Given the description of an element on the screen output the (x, y) to click on. 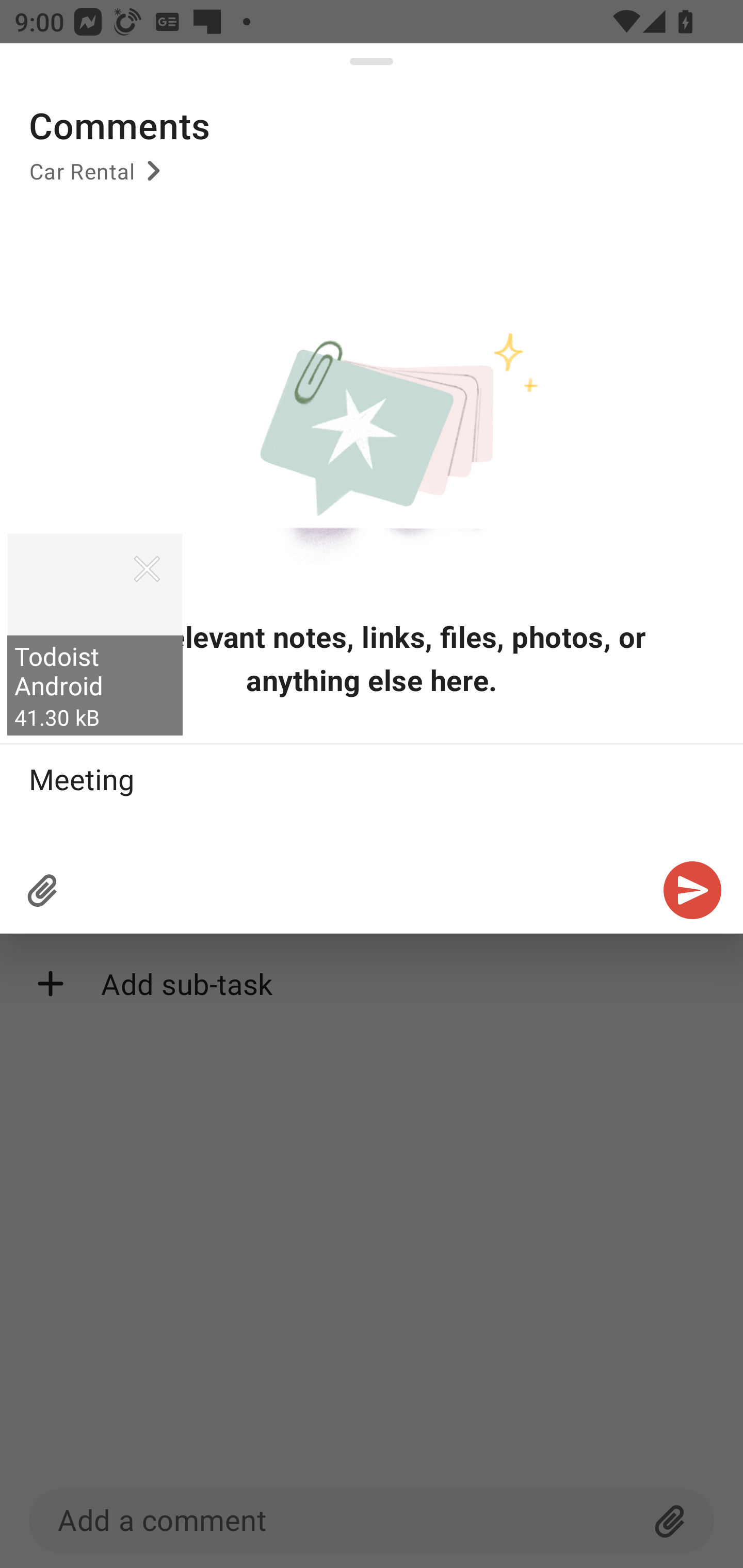
Car Rental (97, 177)
Remove attachment (146, 569)
Meeting
 (371, 795)
Attachment (43, 889)
Submit (692, 889)
